Given the description of an element on the screen output the (x, y) to click on. 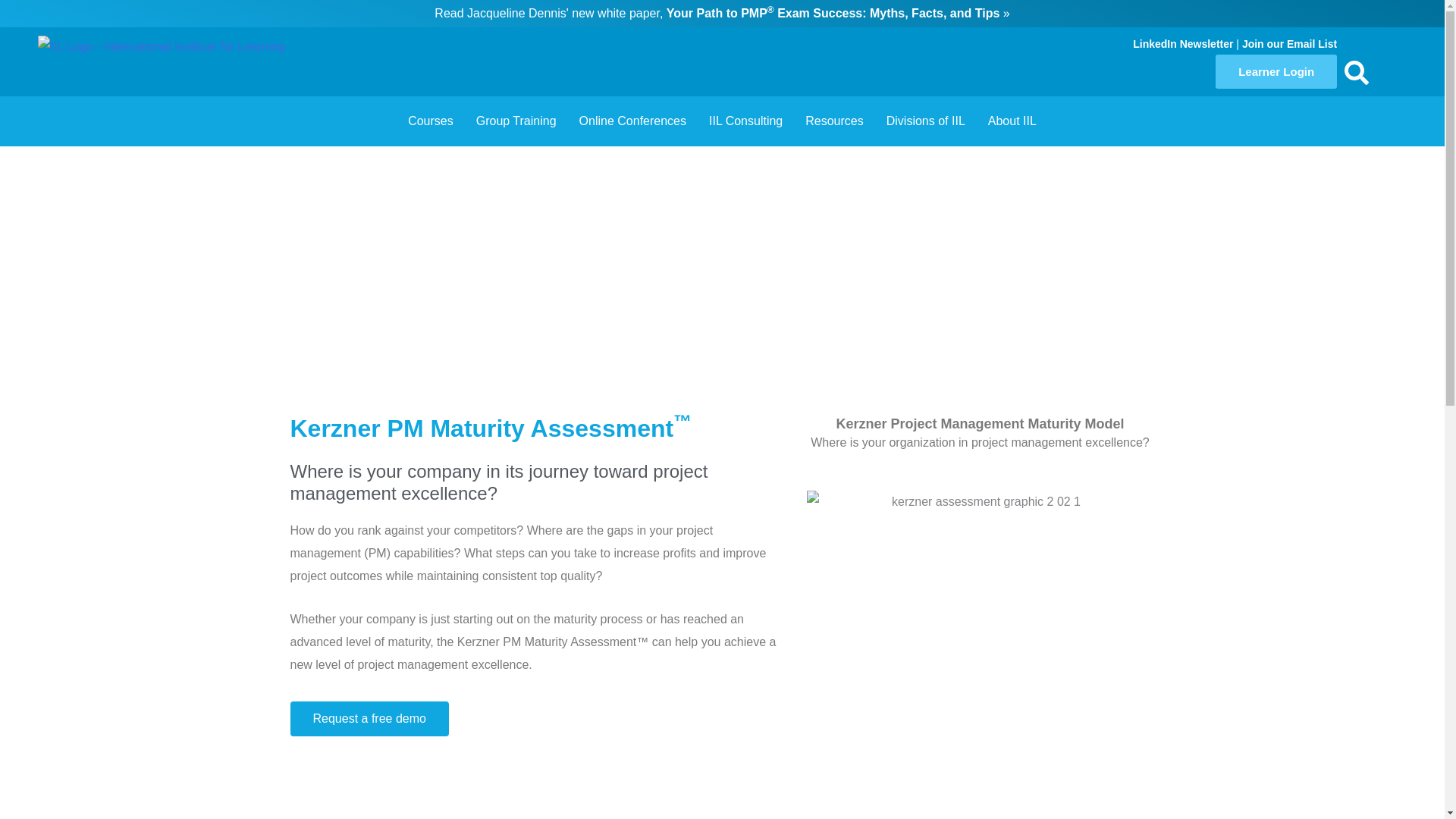
Join our Email List (1288, 43)
Learner Login (1275, 71)
LinkedIn Newsletter (1182, 43)
Courses (430, 121)
